Given the description of an element on the screen output the (x, y) to click on. 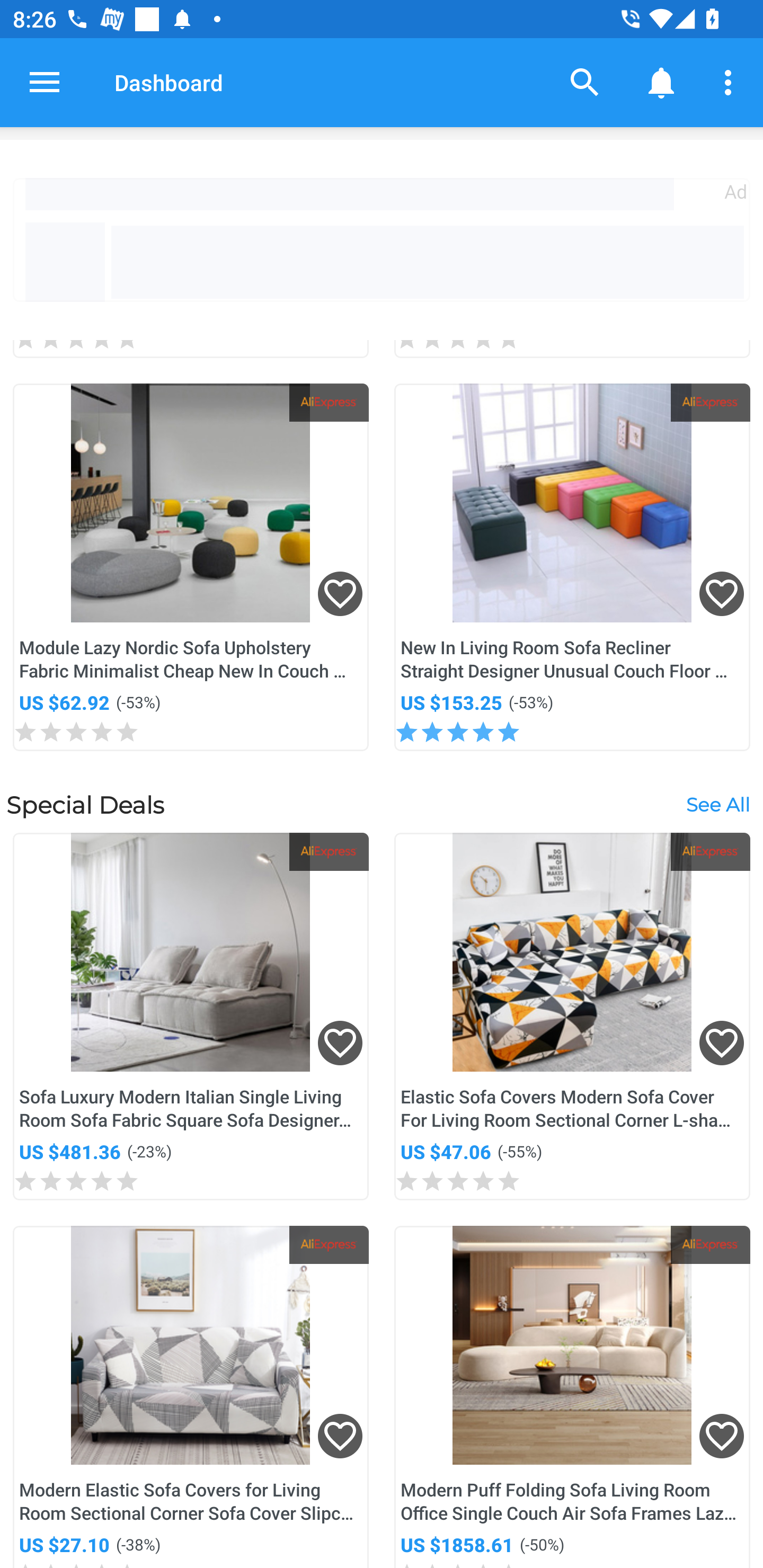
Open navigation drawer (44, 82)
Search (585, 81)
More options (731, 81)
See All (717, 803)
